Given the description of an element on the screen output the (x, y) to click on. 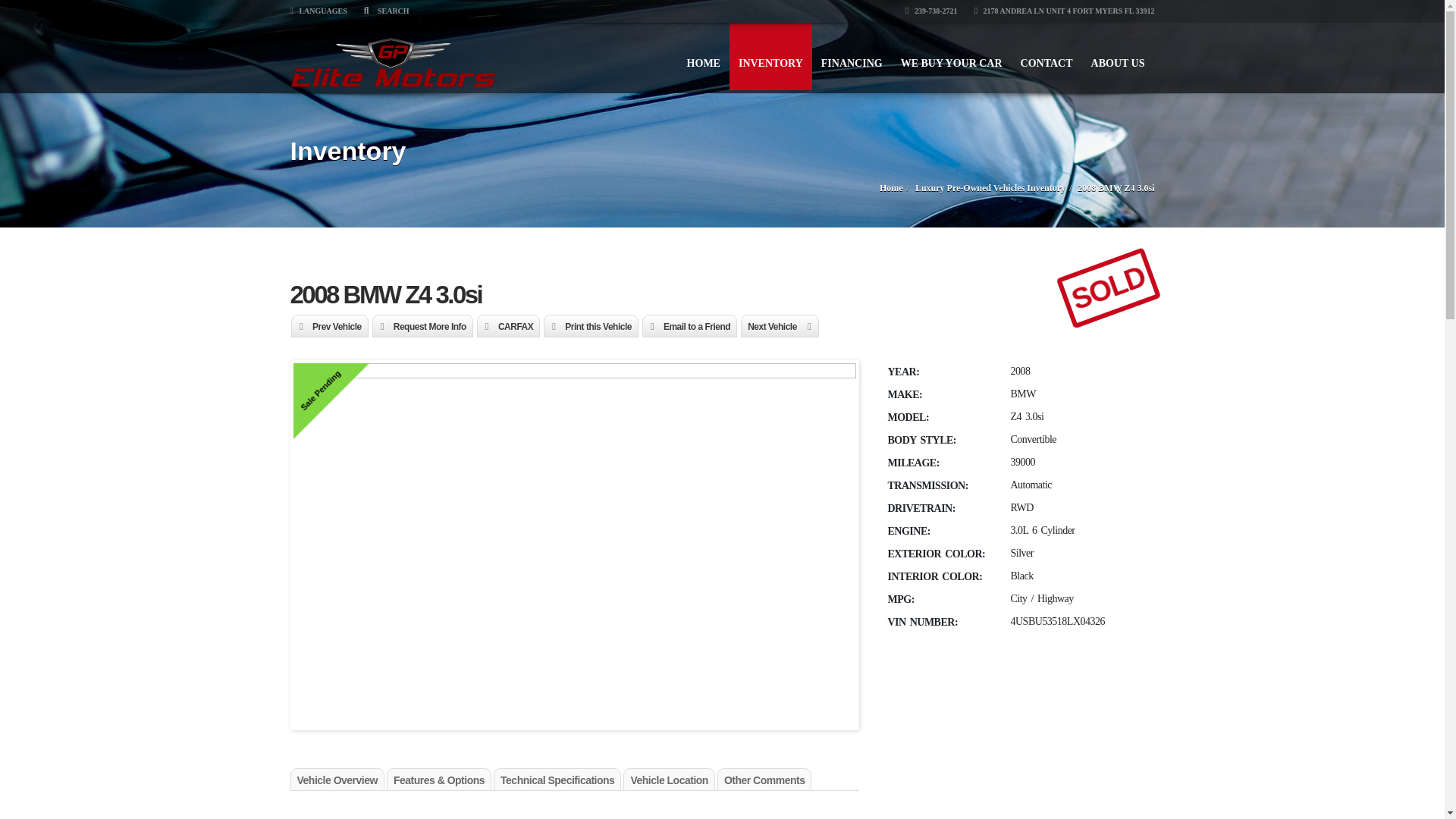
Luxury Pre-Owned Vehicles Inventory (990, 187)
FINANCING (851, 56)
Prev Vehicle (329, 326)
Vehicle Overview (336, 779)
LANGUAGES (317, 10)
Home (890, 187)
Technical Specifications (557, 779)
CONTACT (1046, 56)
Print this Vehicle (590, 326)
Request More Info (421, 326)
WE BUY YOUR CAR (951, 56)
INVENTORY (770, 56)
Email to a Friend (689, 326)
Other Comments (764, 779)
Next Vehicle (780, 326)
